Given the description of an element on the screen output the (x, y) to click on. 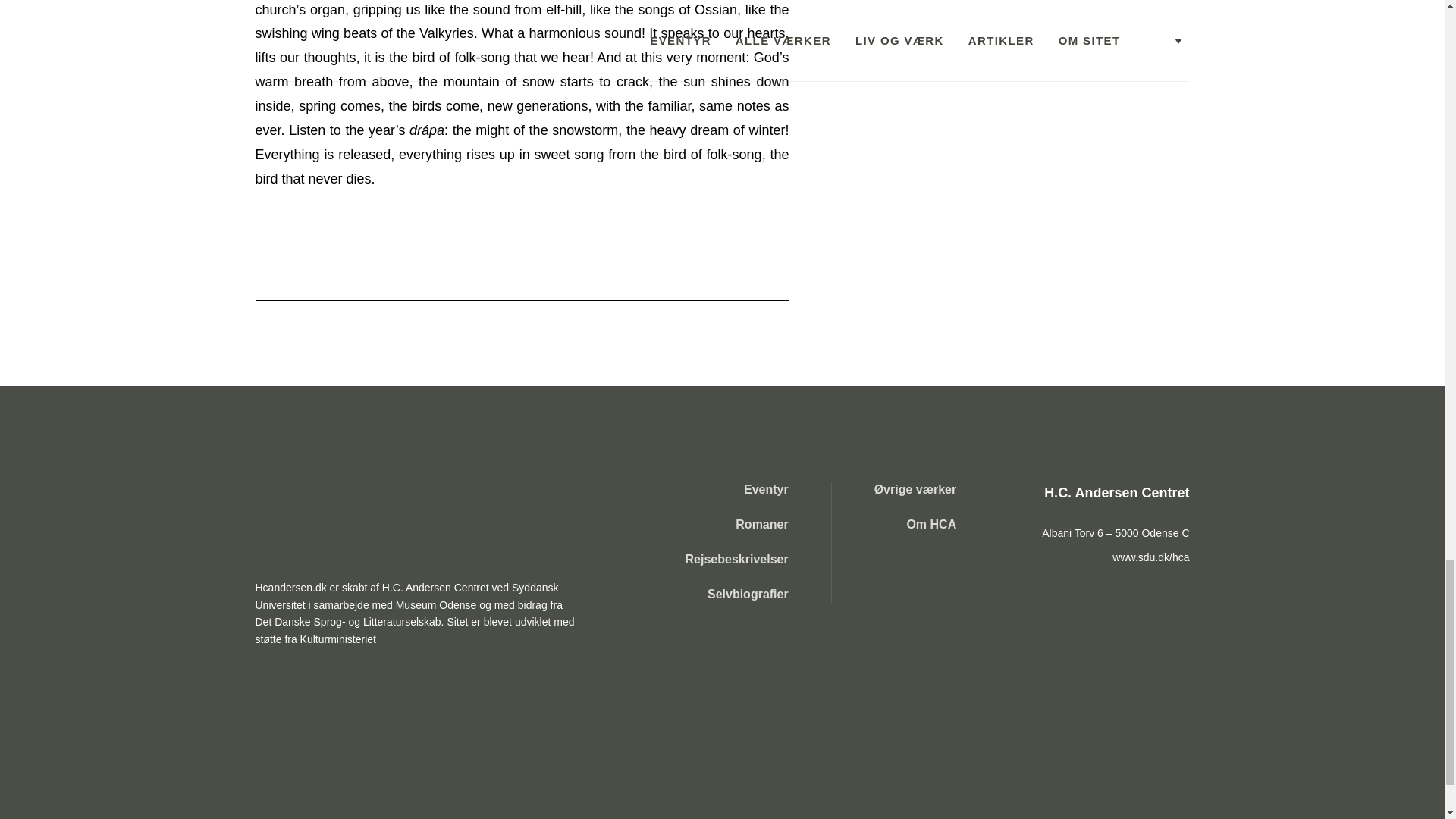
Romaner (737, 524)
Eventyr (737, 489)
Rejsebeskrivelser (737, 559)
Selvbiografier (737, 594)
Om HCA (915, 524)
